Given the description of an element on the screen output the (x, y) to click on. 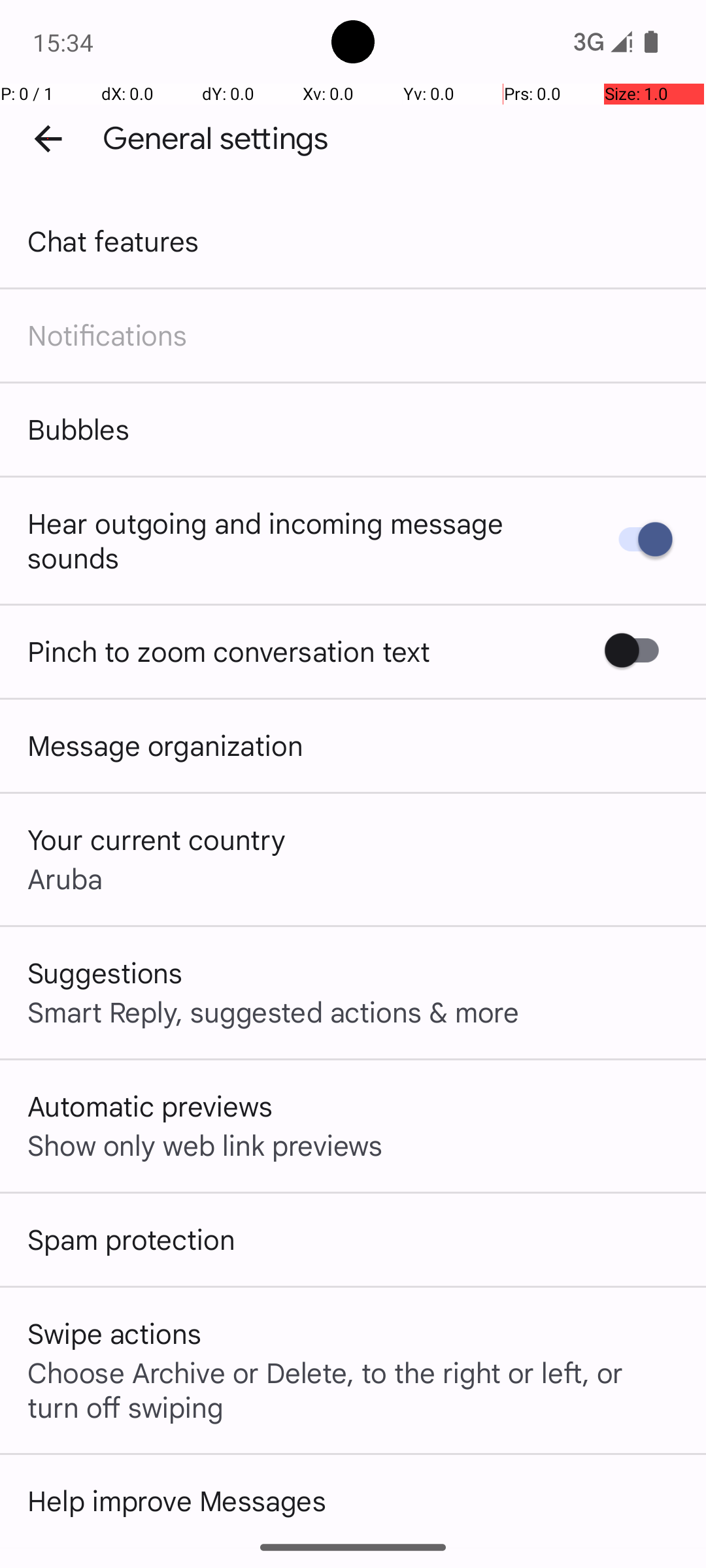
General settings Element type: android.widget.TextView (215, 138)
Chat features Element type: android.widget.TextView (113, 240)
Hear outgoing and incoming message sounds Element type: android.widget.TextView (299, 539)
Pinch to zoom conversation text Element type: android.widget.TextView (228, 650)
Message organization Element type: android.widget.TextView (165, 744)
Your current country Element type: android.widget.TextView (156, 838)
Aruba Element type: android.widget.TextView (64, 877)
Smart Reply, suggested actions & more Element type: android.widget.TextView (273, 1010)
Automatic previews Element type: android.widget.TextView (149, 1105)
Show only web link previews Element type: android.widget.TextView (205, 1144)
Spam protection Element type: android.widget.TextView (131, 1238)
Swipe actions Element type: android.widget.TextView (114, 1332)
Choose Archive or Delete, to the right or left, or turn off swiping Element type: android.widget.TextView (352, 1388)
Help improve Messages Element type: android.widget.TextView (176, 1499)
